Given the description of an element on the screen output the (x, y) to click on. 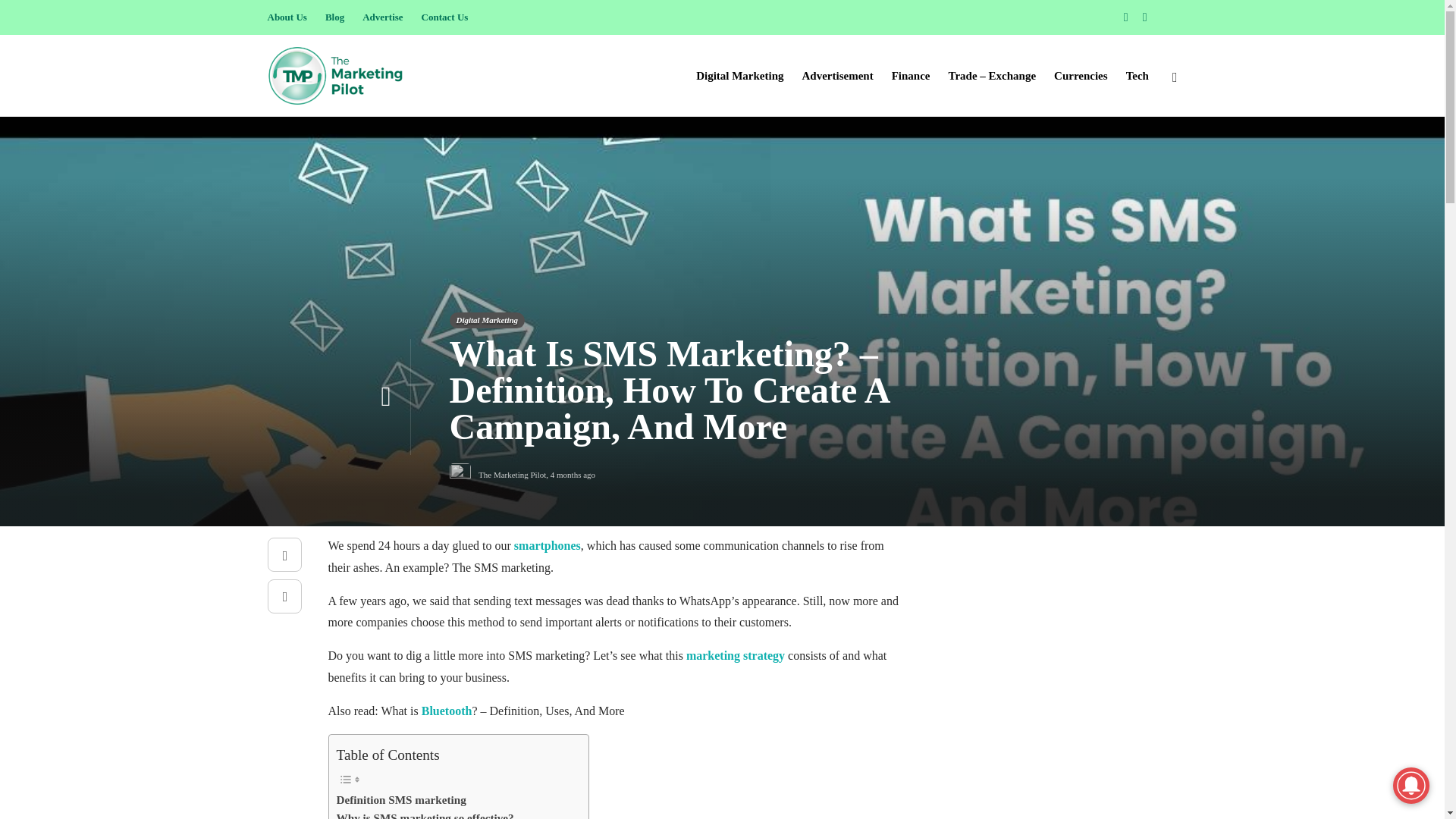
Advertisement (837, 75)
Why is SMS marketing so effective? (424, 814)
Contact Us (445, 17)
Definition SMS marketing (400, 800)
Digital Marketing (739, 75)
About Us (285, 17)
Advertise (382, 17)
